Given the description of an element on the screen output the (x, y) to click on. 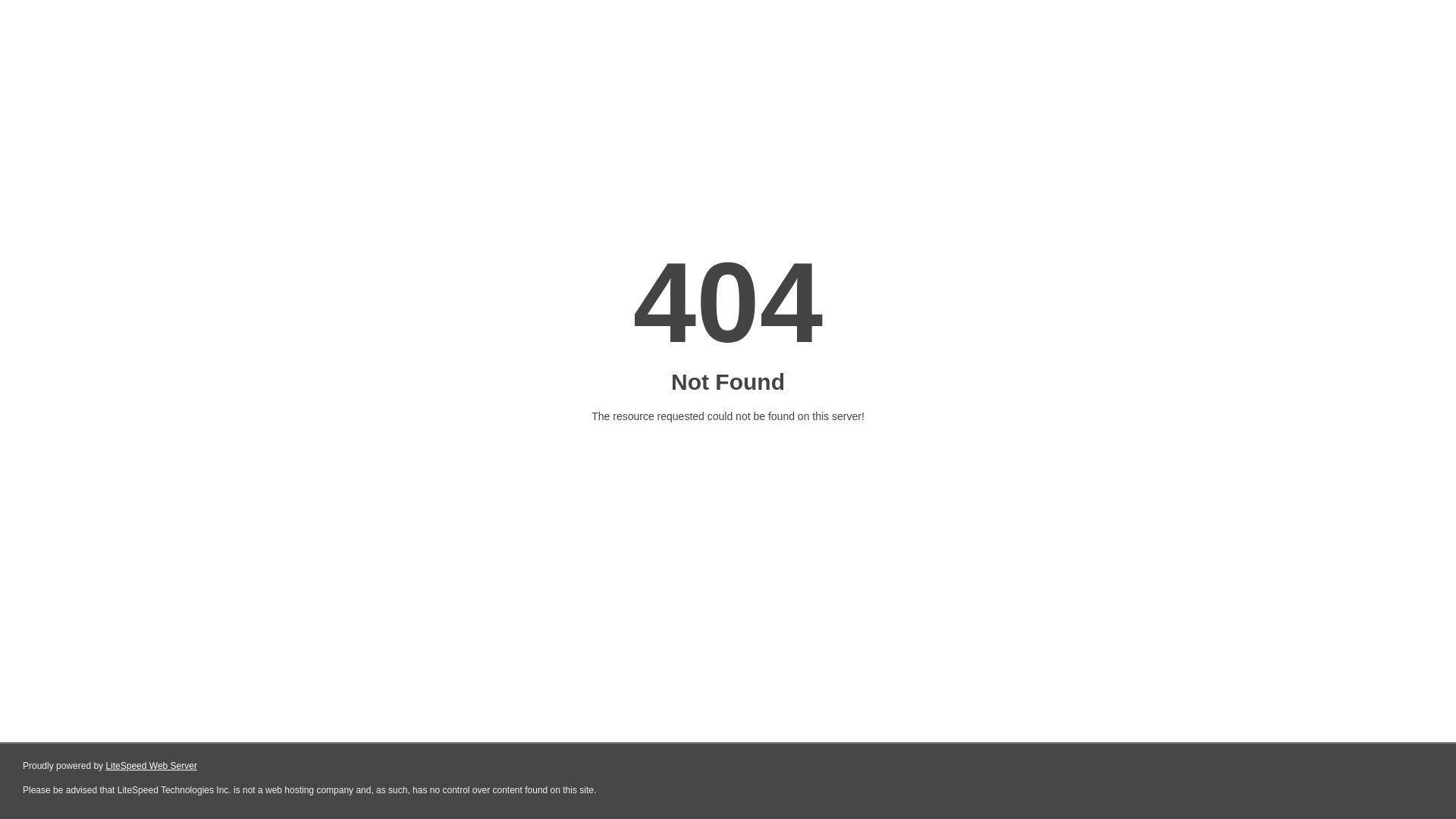
LiteSpeed Web Server Element type: text (151, 765)
